Given the description of an element on the screen output the (x, y) to click on. 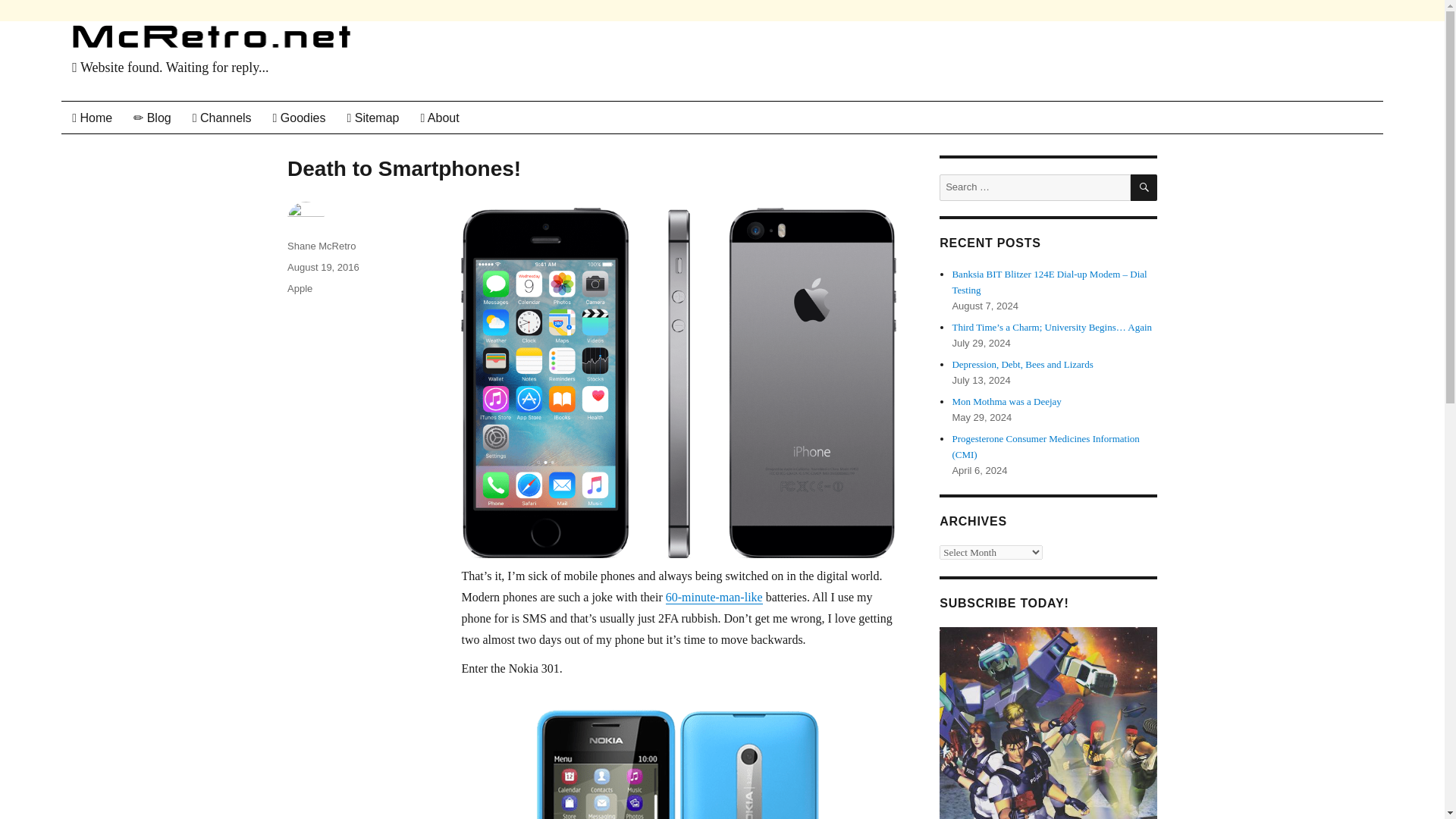
Shane McRetro (320, 245)
Apple (299, 288)
Depression, Debt, Bees and Lizards (1022, 364)
SEARCH (1144, 187)
Mon Mothma was a Deejay (1006, 401)
August 19, 2016 (322, 266)
60-minute-man-like (713, 596)
